Given the description of an element on the screen output the (x, y) to click on. 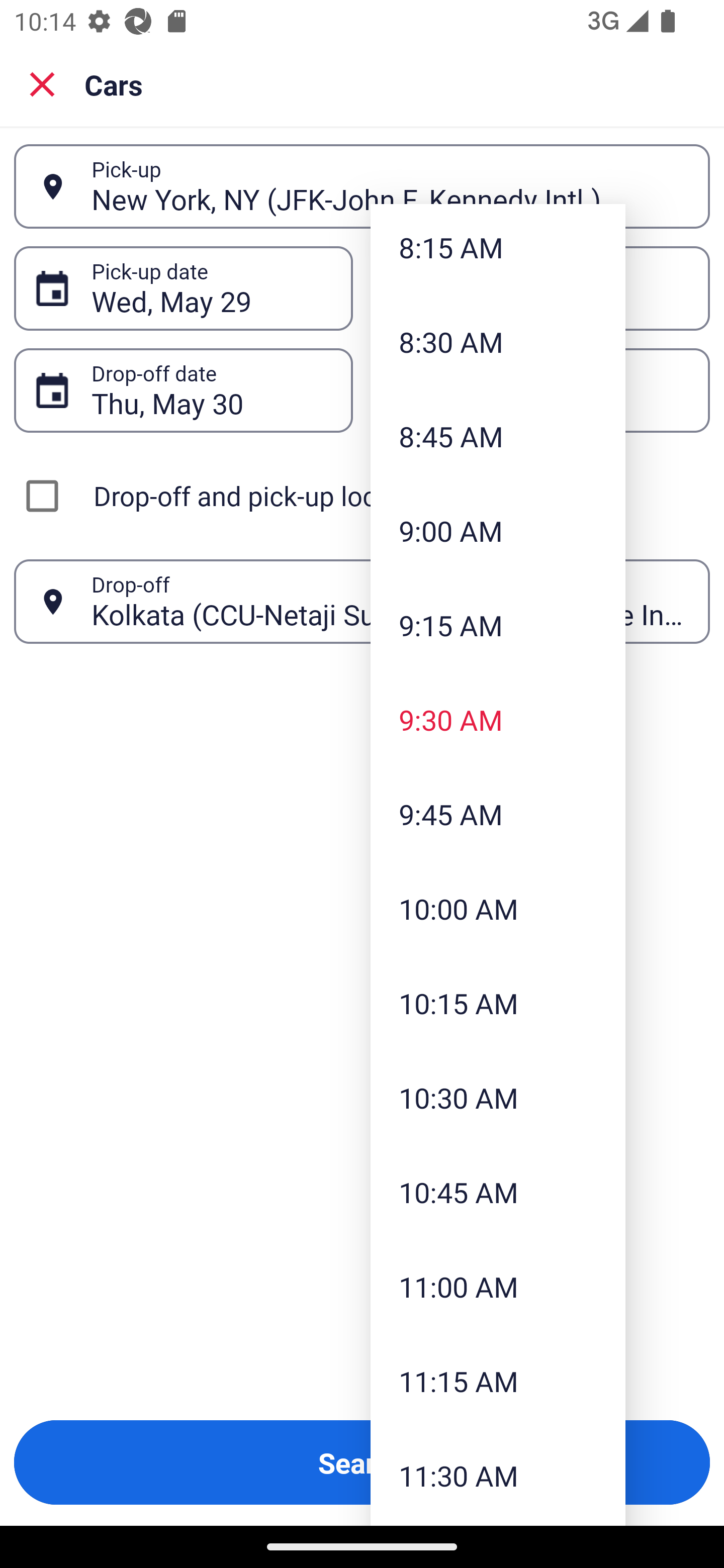
8:15 AM (497, 248)
8:30 AM (497, 341)
8:45 AM (497, 435)
9:00 AM (497, 530)
9:15 AM (497, 625)
9:30 AM (497, 719)
9:45 AM (497, 813)
10:00 AM (497, 908)
10:15 AM (497, 1003)
10:30 AM (497, 1097)
10:45 AM (497, 1191)
11:00 AM (497, 1286)
11:15 AM (497, 1381)
11:30 AM (497, 1475)
